Given the description of an element on the screen output the (x, y) to click on. 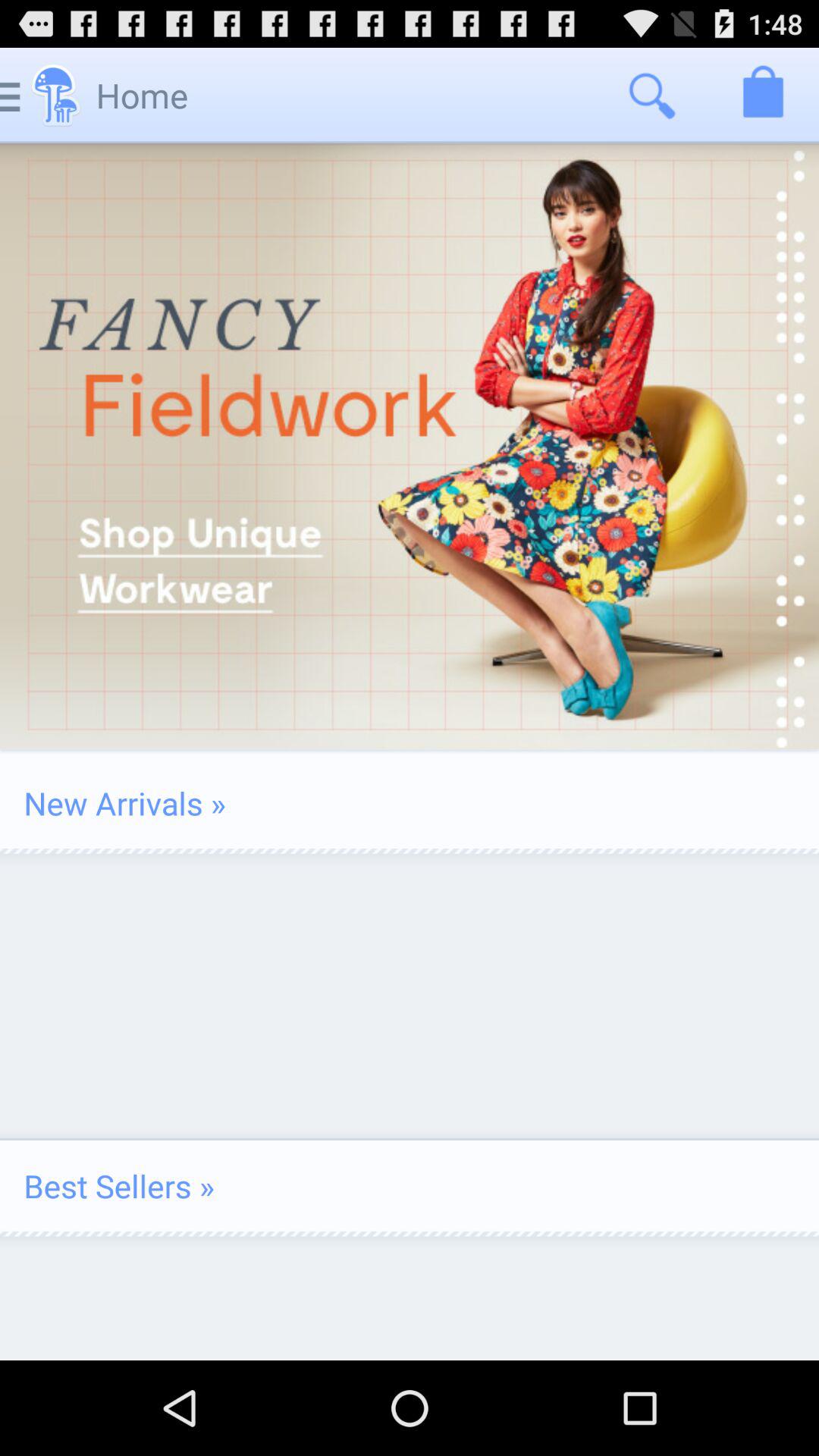
tap item at the bottom left corner (118, 1185)
